Given the description of an element on the screen output the (x, y) to click on. 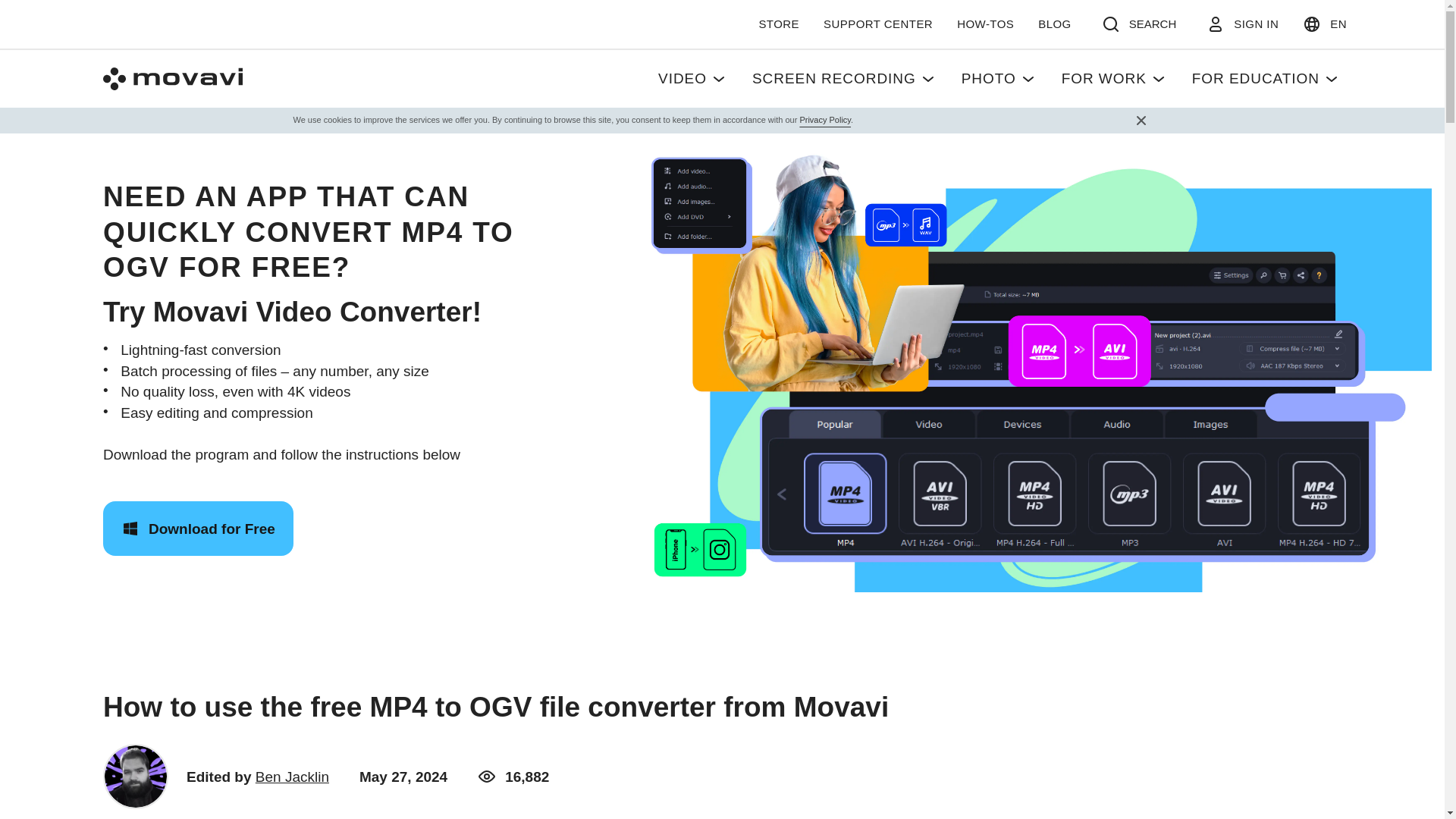
Download for Free (198, 528)
SEARCH (1139, 24)
SUPPORT CENTER (877, 24)
FOR WORK (1114, 78)
SCREEN RECORDING (844, 78)
SIGN IN (1241, 24)
Home (978, 86)
FOR EDUCATION (1265, 78)
STORE (778, 24)
How-tos (1165, 86)
Ben Jacklin (292, 776)
Help Center (1068, 86)
PHOTO (999, 78)
BLOG (1054, 24)
EN (1324, 24)
